Given the description of an element on the screen output the (x, y) to click on. 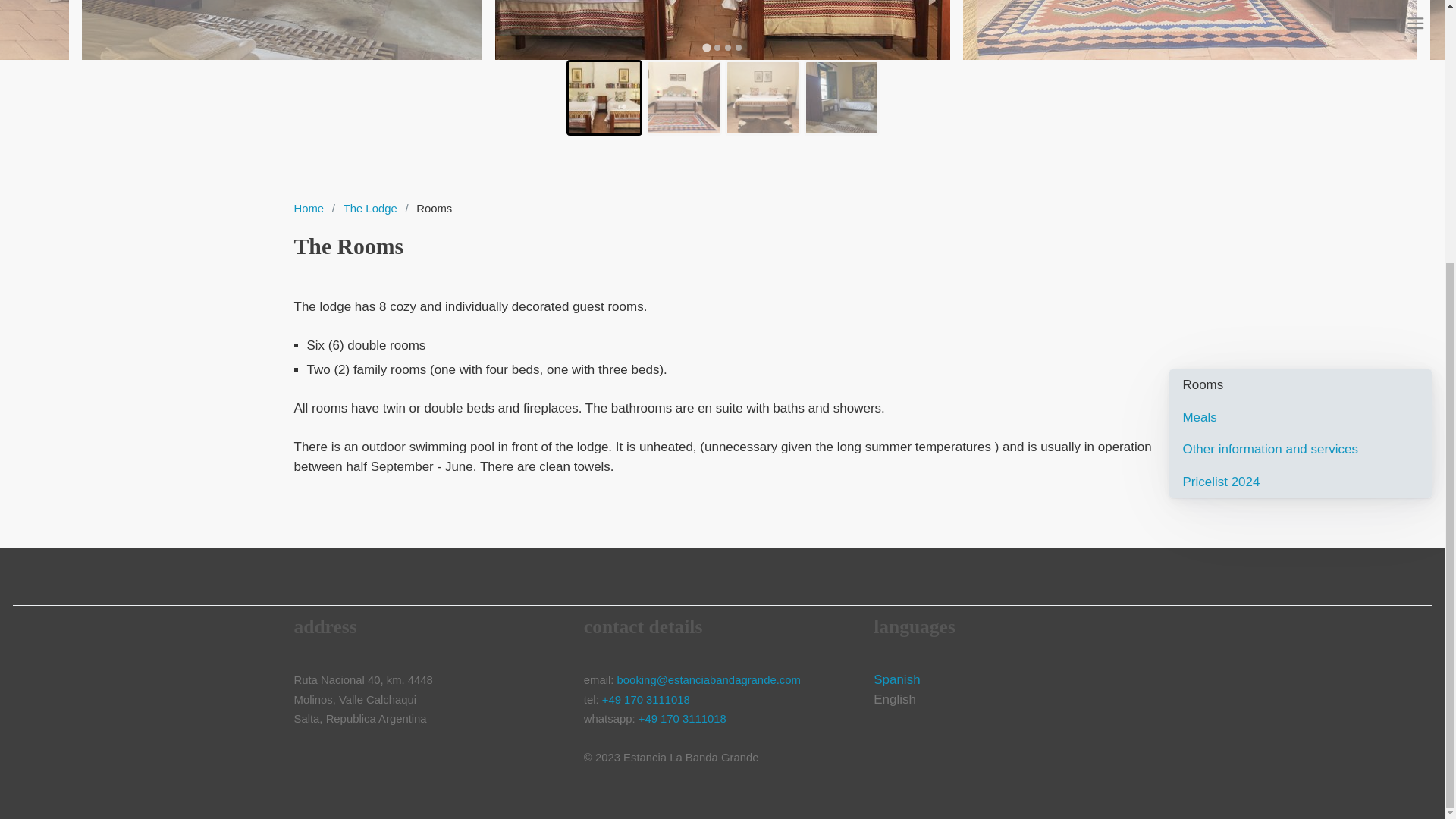
The Lodge (369, 207)
Spanish (896, 679)
Meals (1307, 417)
Home (308, 207)
Other information and services (1307, 450)
Pricelist 2024 (1307, 481)
